Given the description of an element on the screen output the (x, y) to click on. 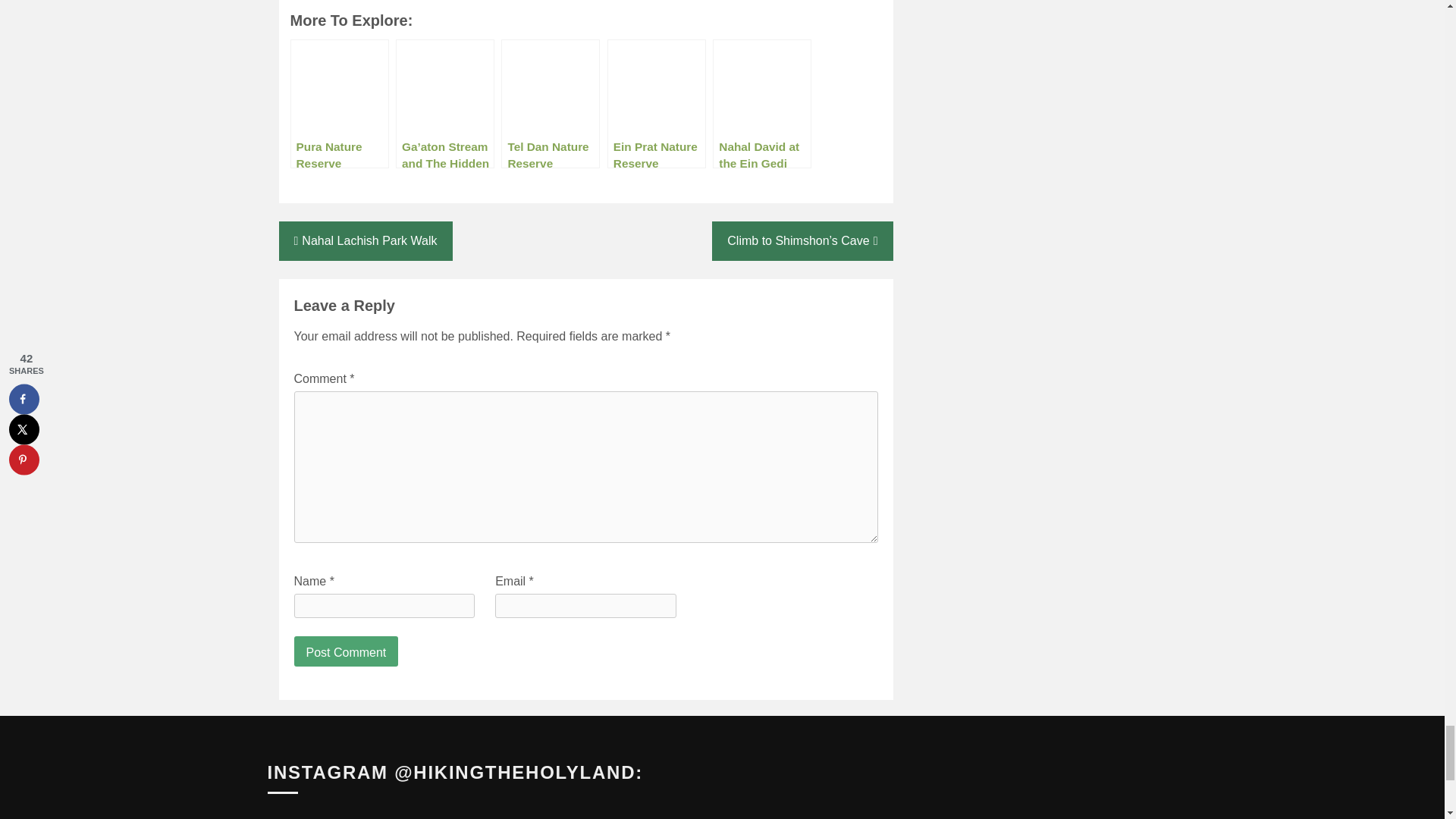
Nahal Lachish Park Walk (365, 241)
Post Comment (346, 651)
